Given the description of an element on the screen output the (x, y) to click on. 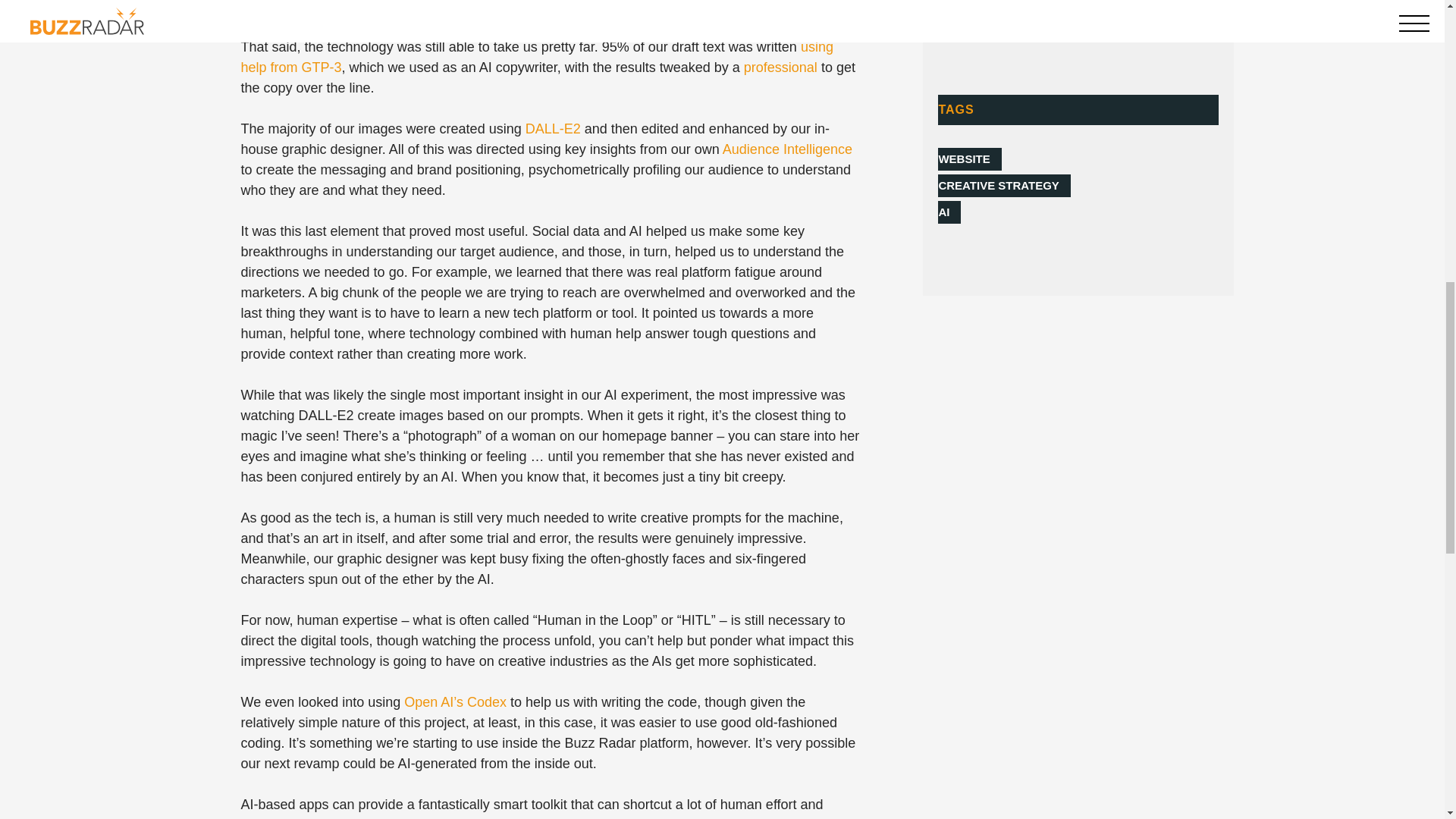
using help from GTP-3 (536, 57)
WEBSITE (969, 159)
professional (780, 67)
DALL-E2 (552, 128)
AI (948, 211)
CREATIVE STRATEGY (1003, 185)
Audience Intelligence (786, 149)
THE ROLE OF BIG DATA IN PERSONALISED MEDICINE (1093, 2)
